Given the description of an element on the screen output the (x, y) to click on. 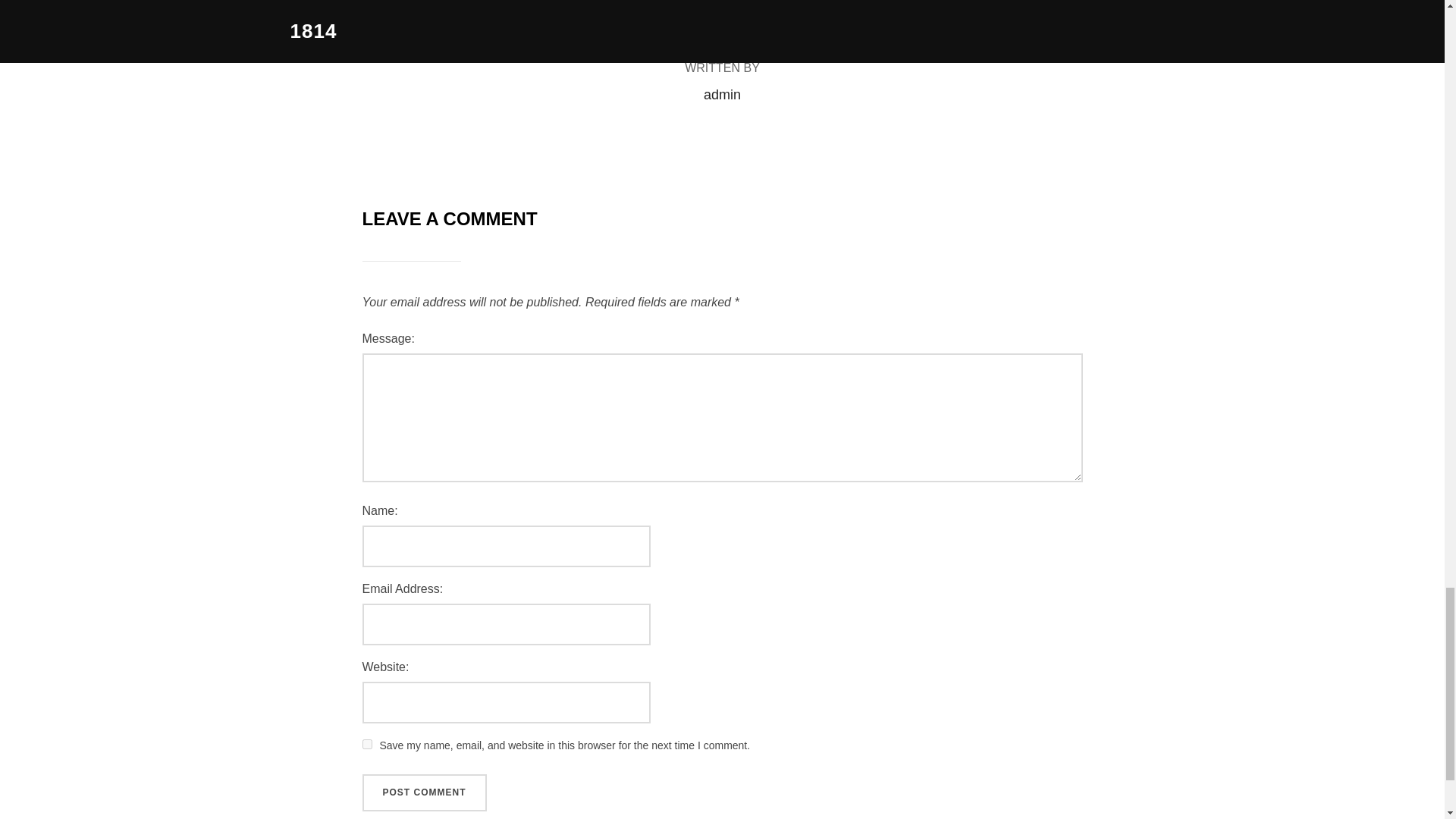
Post Comment (424, 792)
Post Comment (424, 792)
yes (367, 744)
admin (722, 94)
Posts by admin (722, 94)
